Given the description of an element on the screen output the (x, y) to click on. 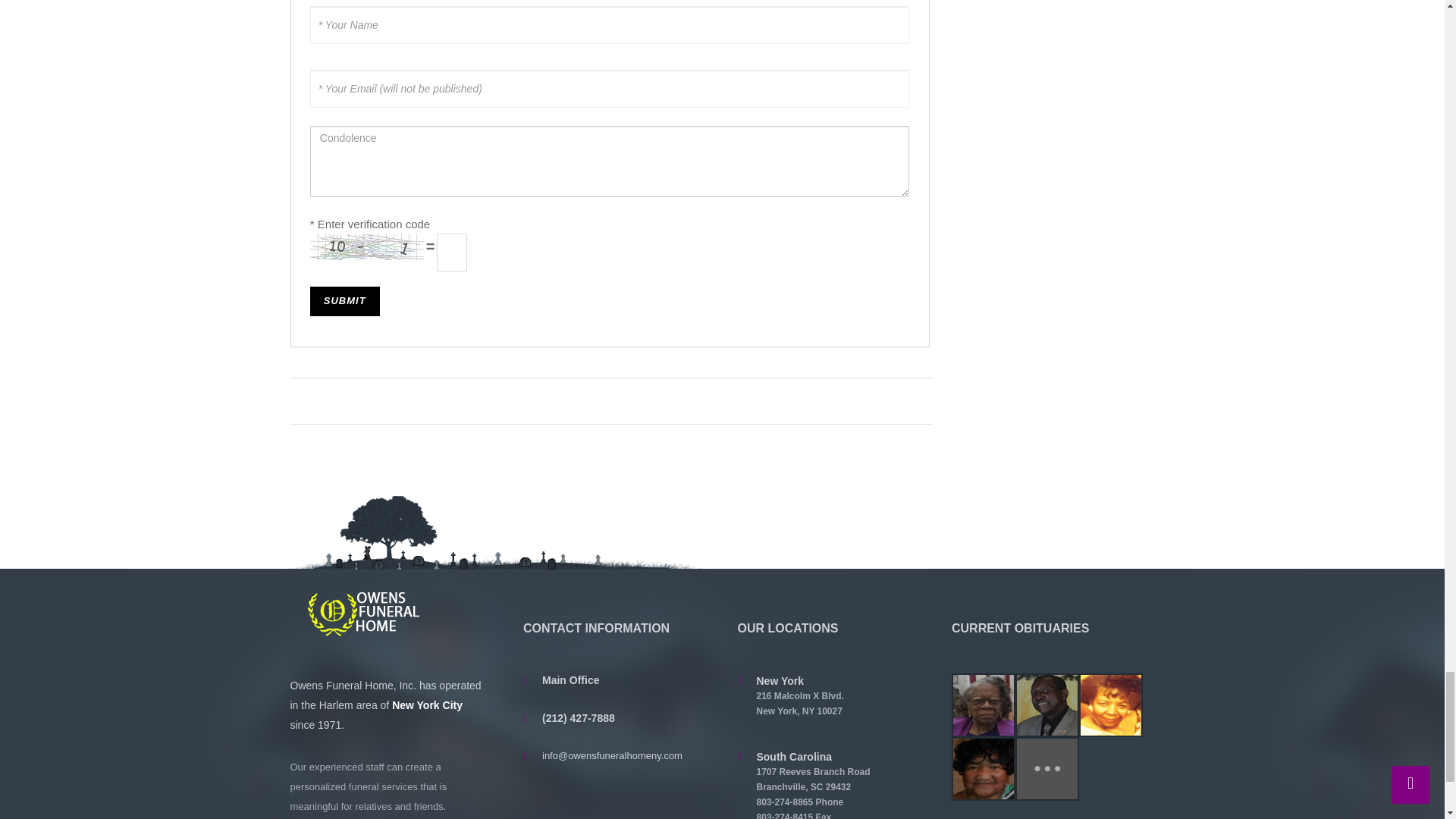
SUBMIT (345, 301)
